Given the description of an element on the screen output the (x, y) to click on. 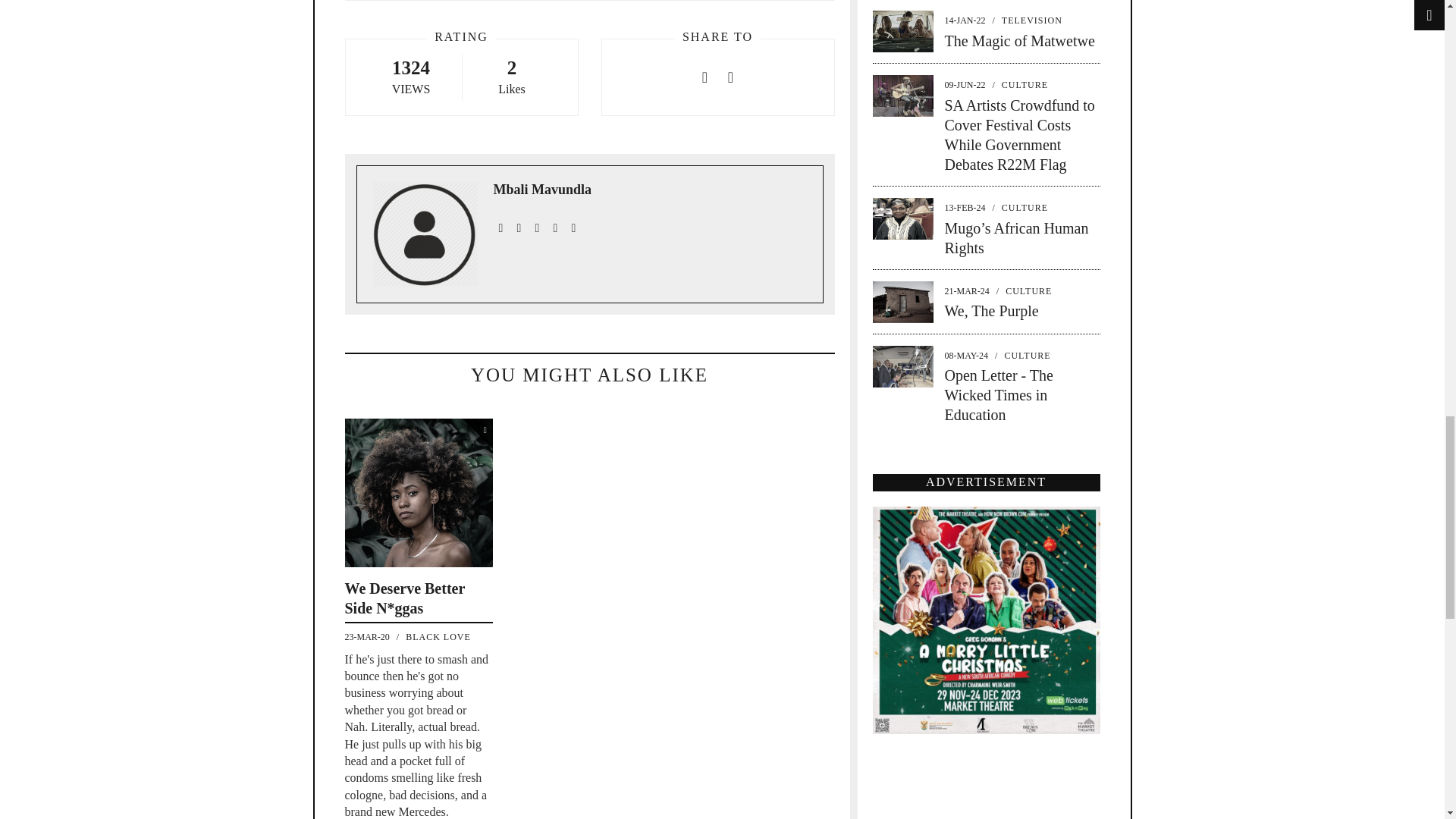
BLACK LOVE (438, 636)
